Given the description of an element on the screen output the (x, y) to click on. 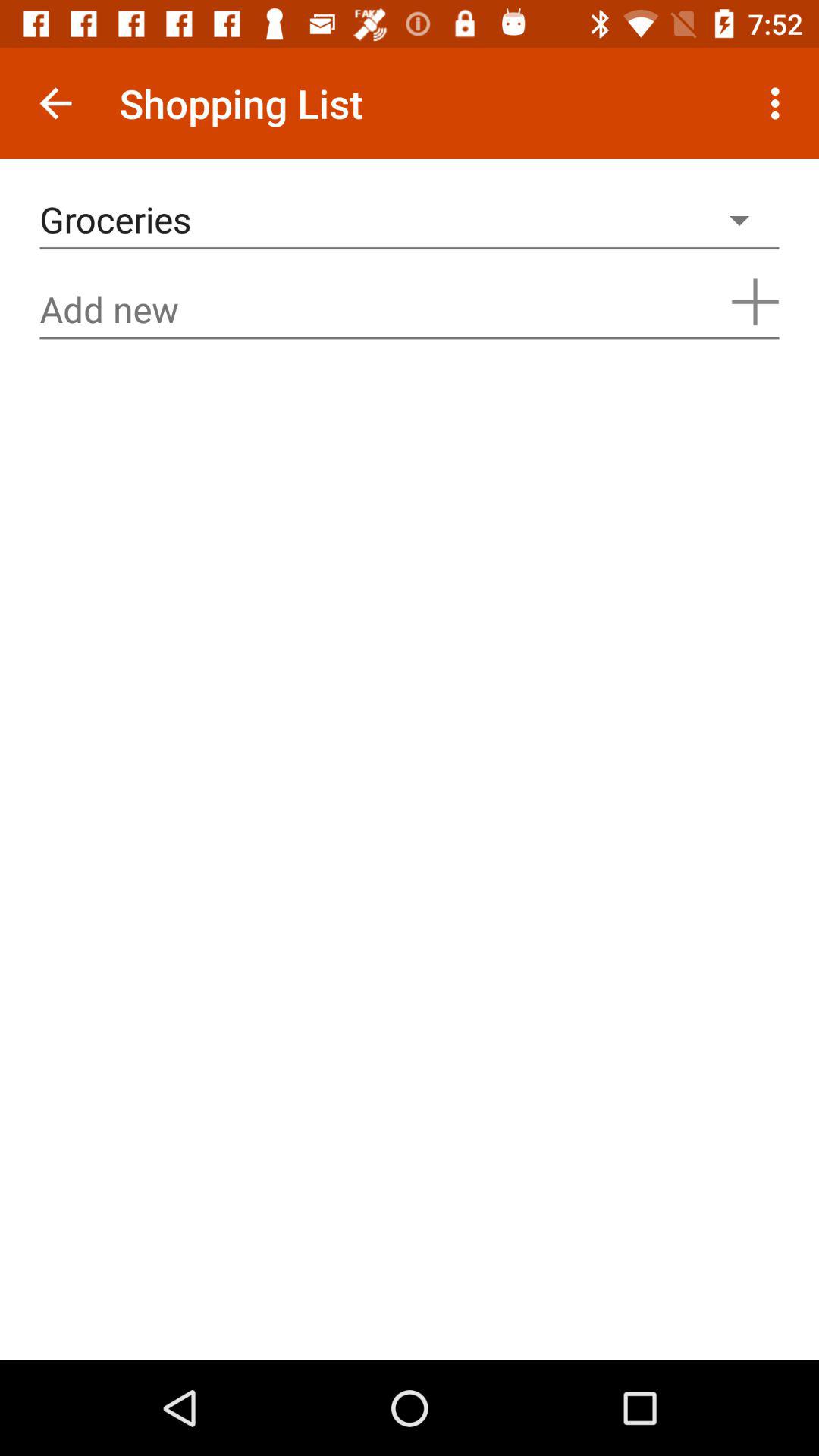
add new item space (409, 309)
